Given the description of an element on the screen output the (x, y) to click on. 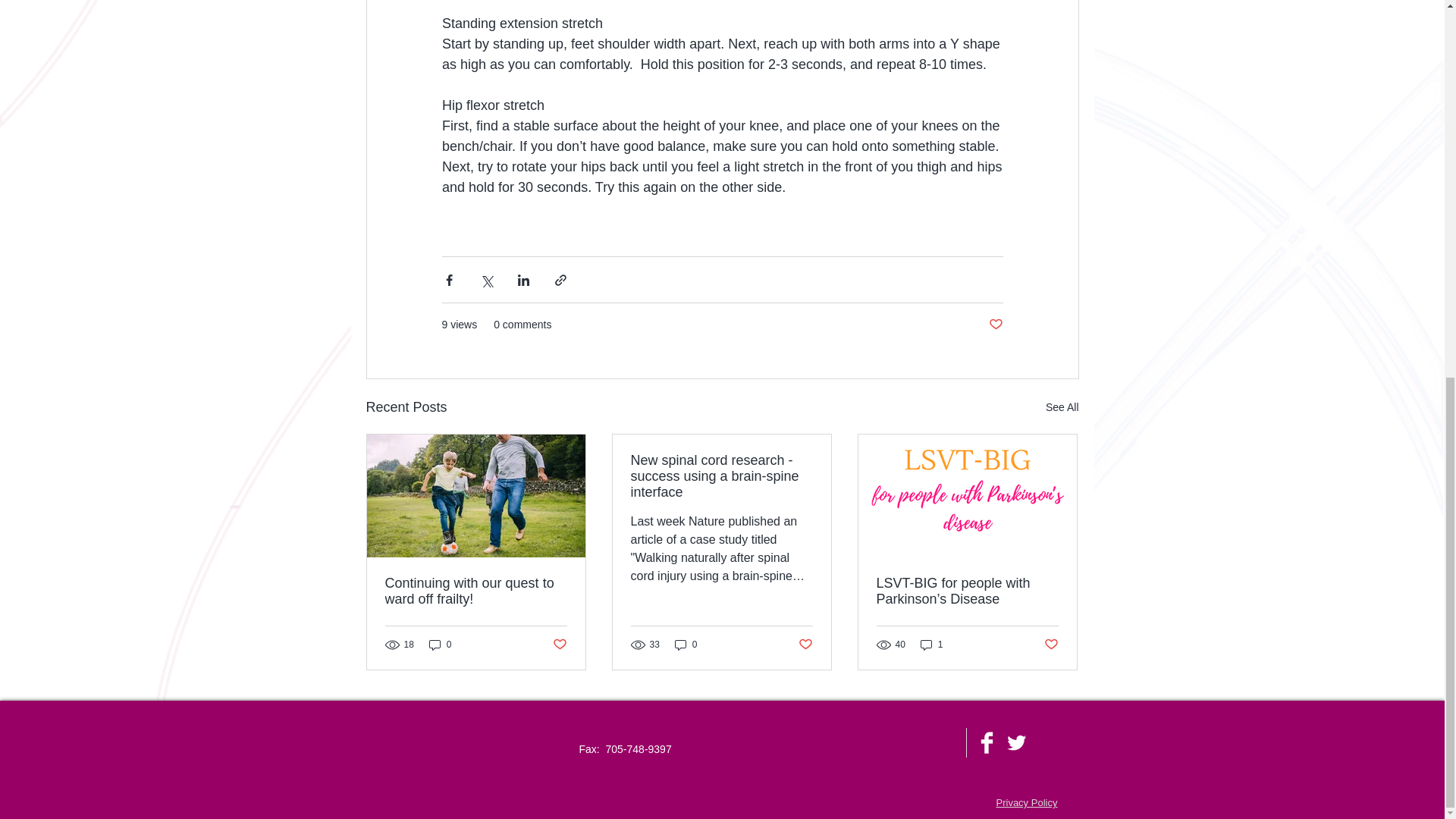
Privacy Policy (1026, 802)
Post not marked as liked (558, 643)
See All (1061, 407)
Post not marked as liked (1050, 643)
Embedded Content (885, 798)
0 (685, 644)
Continuing with our quest to ward off frailty! (476, 591)
Post not marked as liked (804, 643)
0 (440, 644)
